Given the description of an element on the screen output the (x, y) to click on. 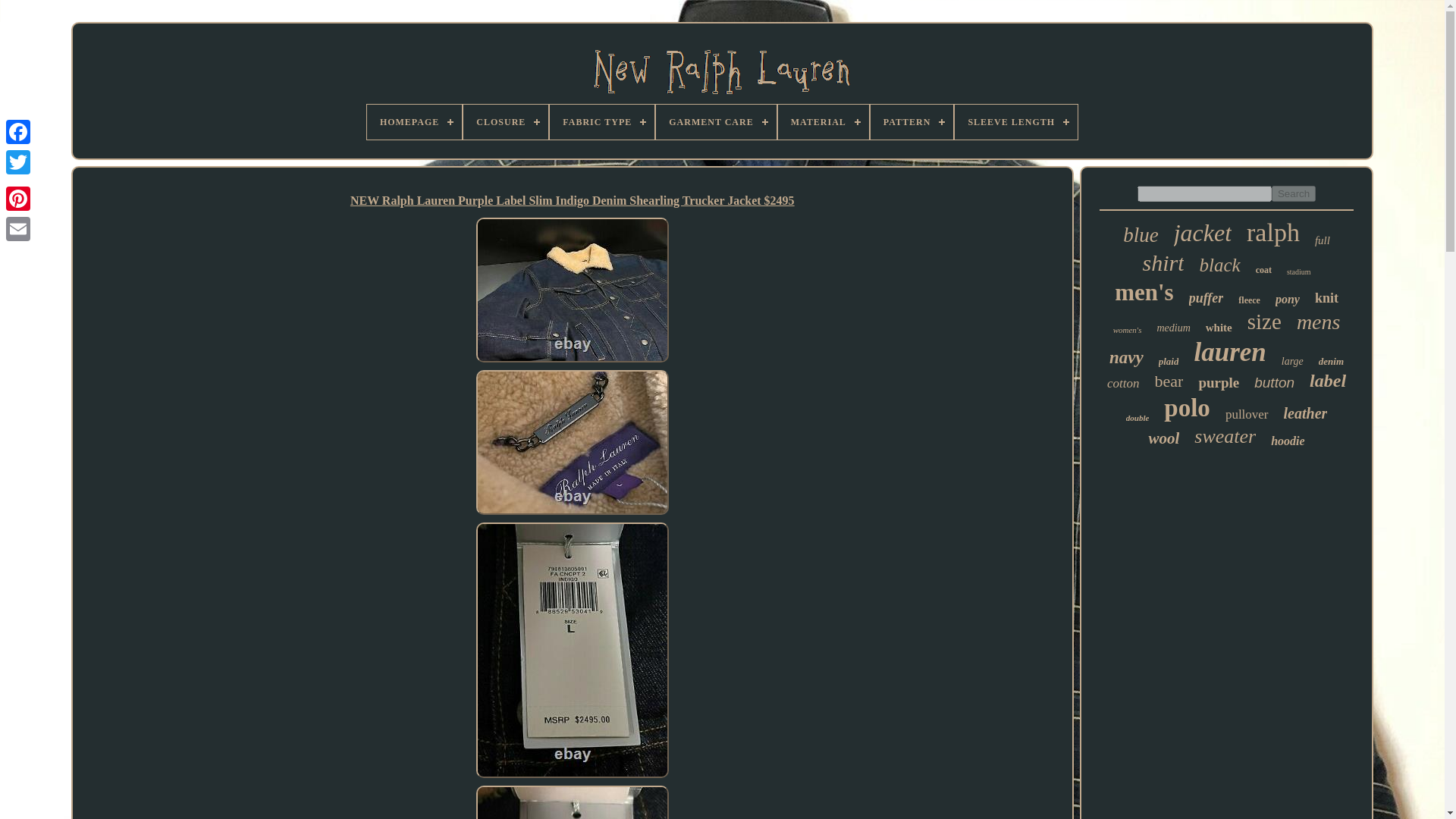
CLOSURE (505, 121)
FABRIC TYPE (601, 121)
Search (1293, 193)
HOMEPAGE (413, 121)
